Given the description of an element on the screen output the (x, y) to click on. 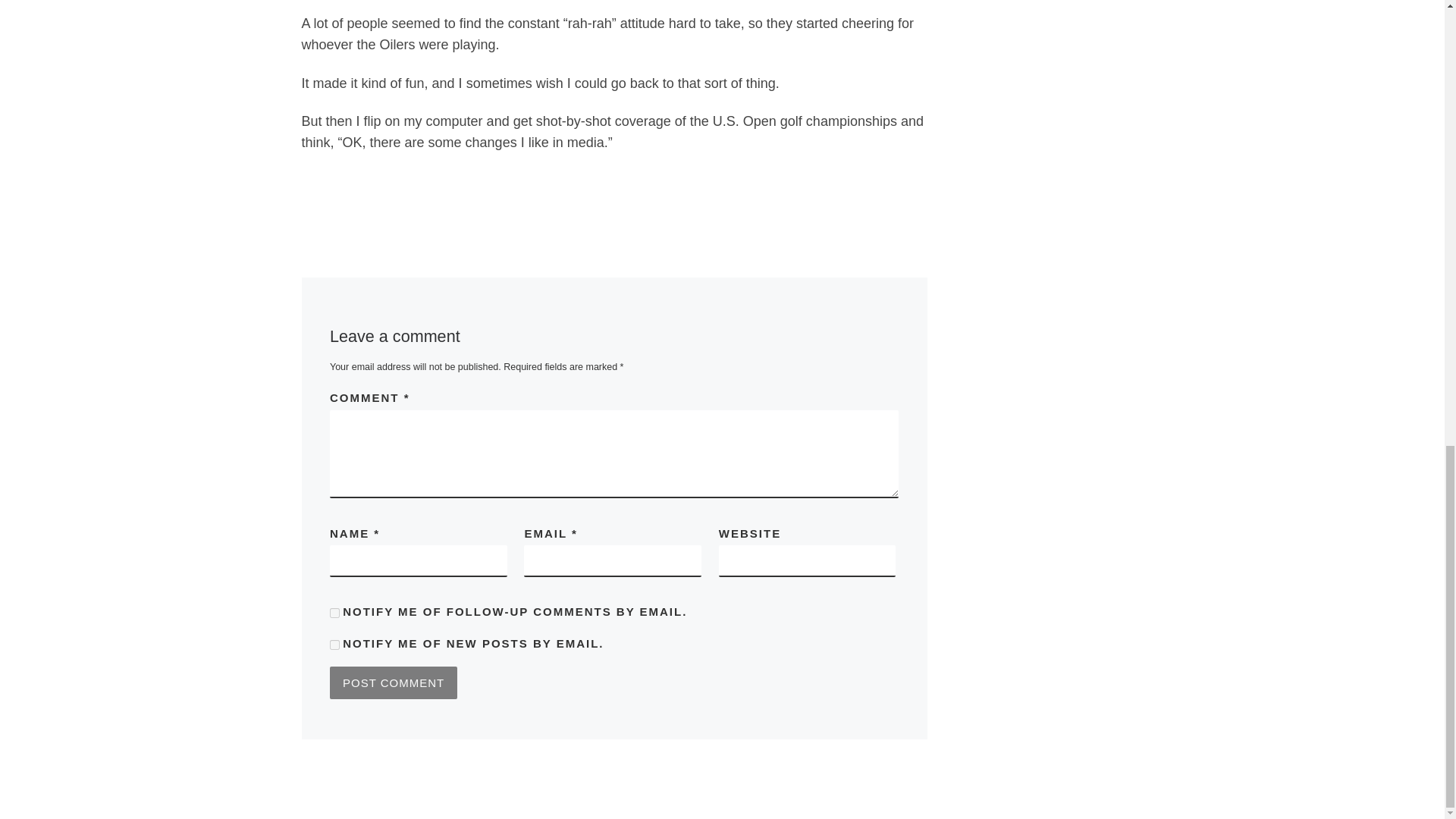
Post Comment (393, 682)
subscribe (334, 644)
subscribe (334, 613)
Post Comment (393, 682)
